Given the description of an element on the screen output the (x, y) to click on. 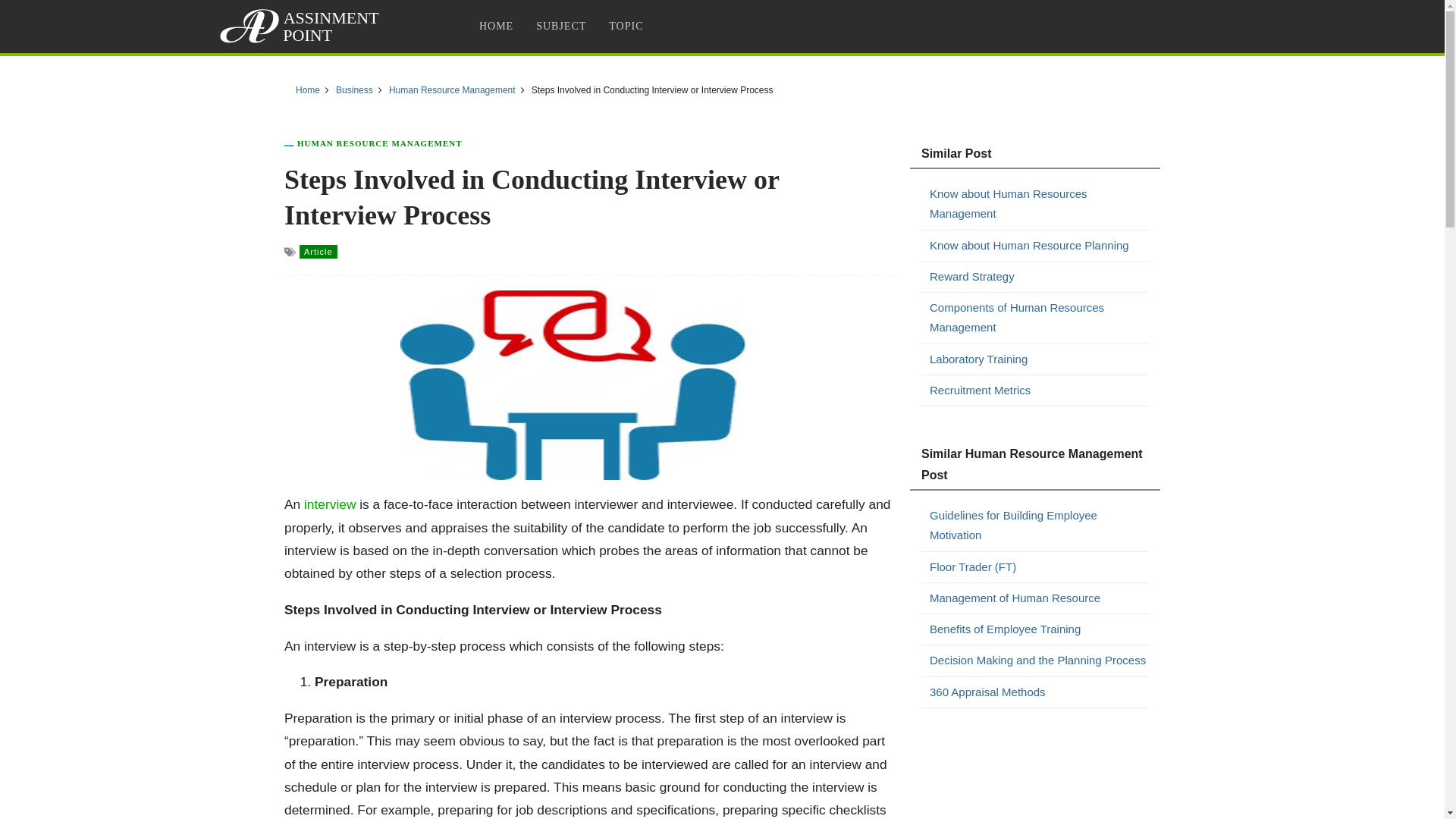
Human Resource Management (451, 90)
Benefits of Employee Training (1039, 629)
Know about Human Resource Planning (1039, 244)
Article (318, 251)
Management of Human Resource (1039, 598)
Know about Human Resource Planning (1039, 244)
Business (354, 90)
Reward Strategy (1039, 276)
Know about Human Resources Management (1039, 204)
Components of Human Resources Management (1039, 318)
